Given the description of an element on the screen output the (x, y) to click on. 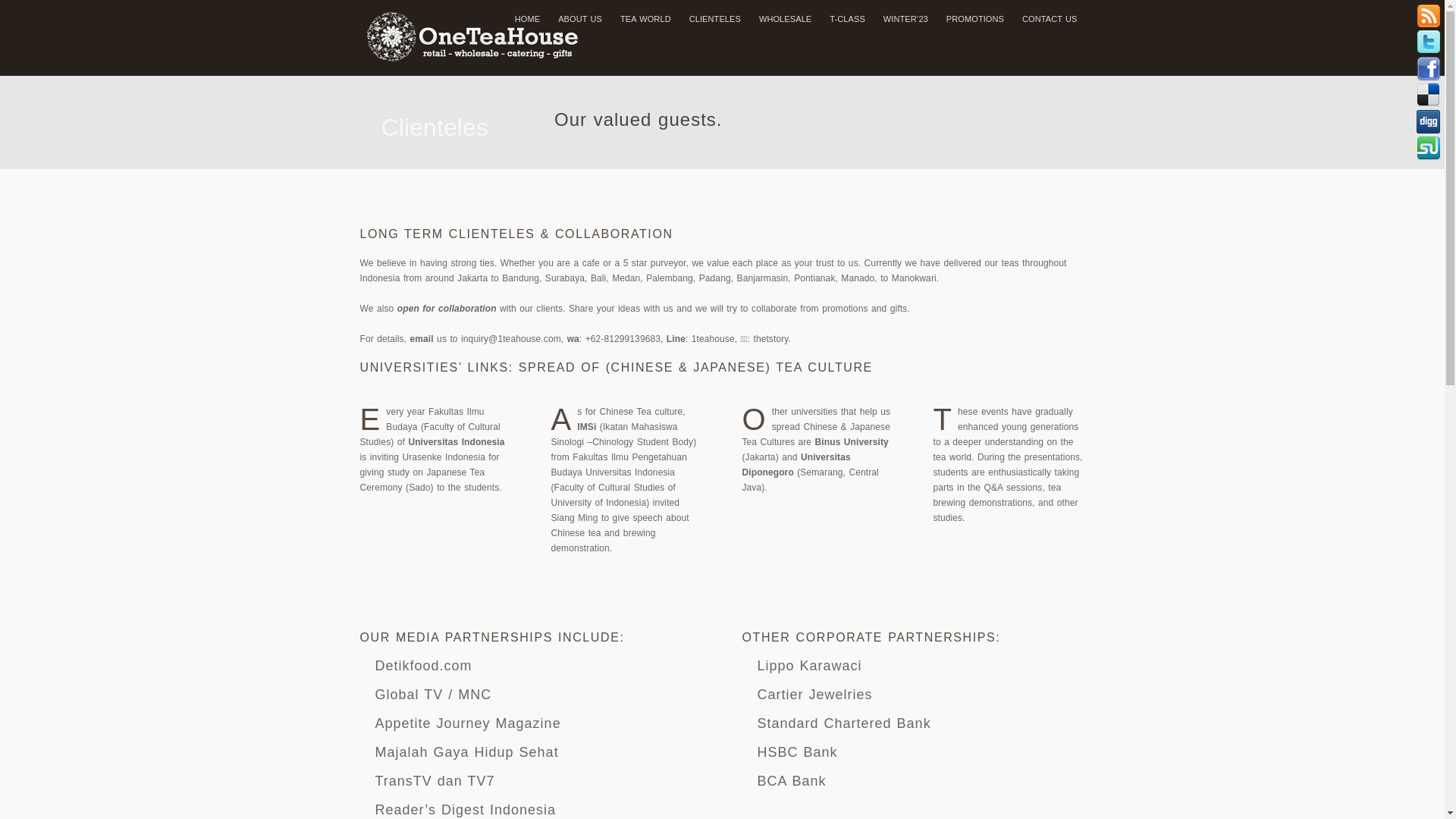
Delicious button Element type: text (1428, 95)
WHOLESALE Element type: text (784, 18)
Digg button Element type: text (1428, 121)
ABOUT US Element type: text (580, 18)
CLIENTELES Element type: text (714, 18)
PROMOTIONS Element type: text (975, 18)
TEA WORLD Element type: text (645, 18)
Rss Feed Element type: text (1428, 15)
Facebook button Element type: text (1428, 68)
T-CLASS Element type: text (847, 18)
CONTACT US Element type: text (1049, 18)
Stumbleupon button Element type: text (1428, 148)
Tweeter button Element type: text (1428, 42)
HOME Element type: text (527, 18)
